Given the description of an element on the screen output the (x, y) to click on. 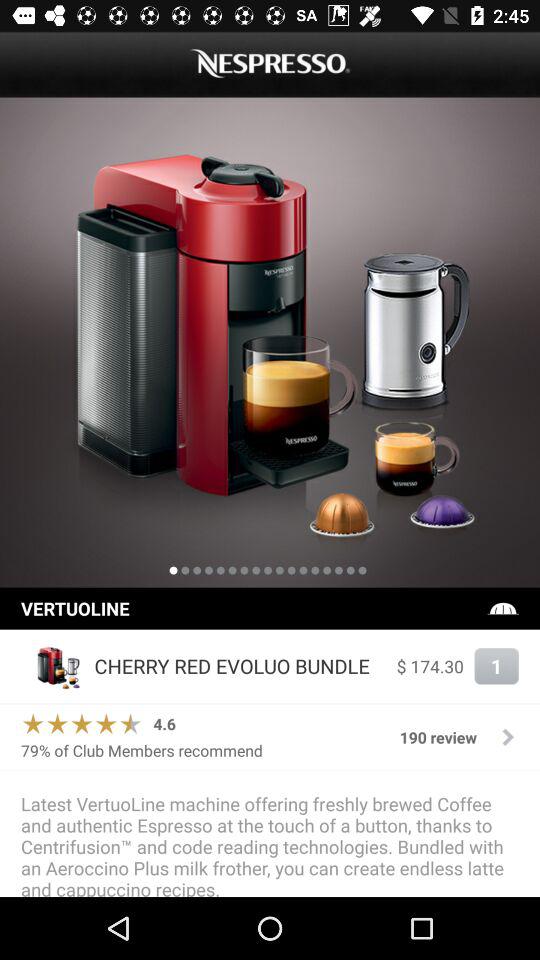
turn off item to the left of the cherry red evoluo icon (52, 665)
